Given the description of an element on the screen output the (x, y) to click on. 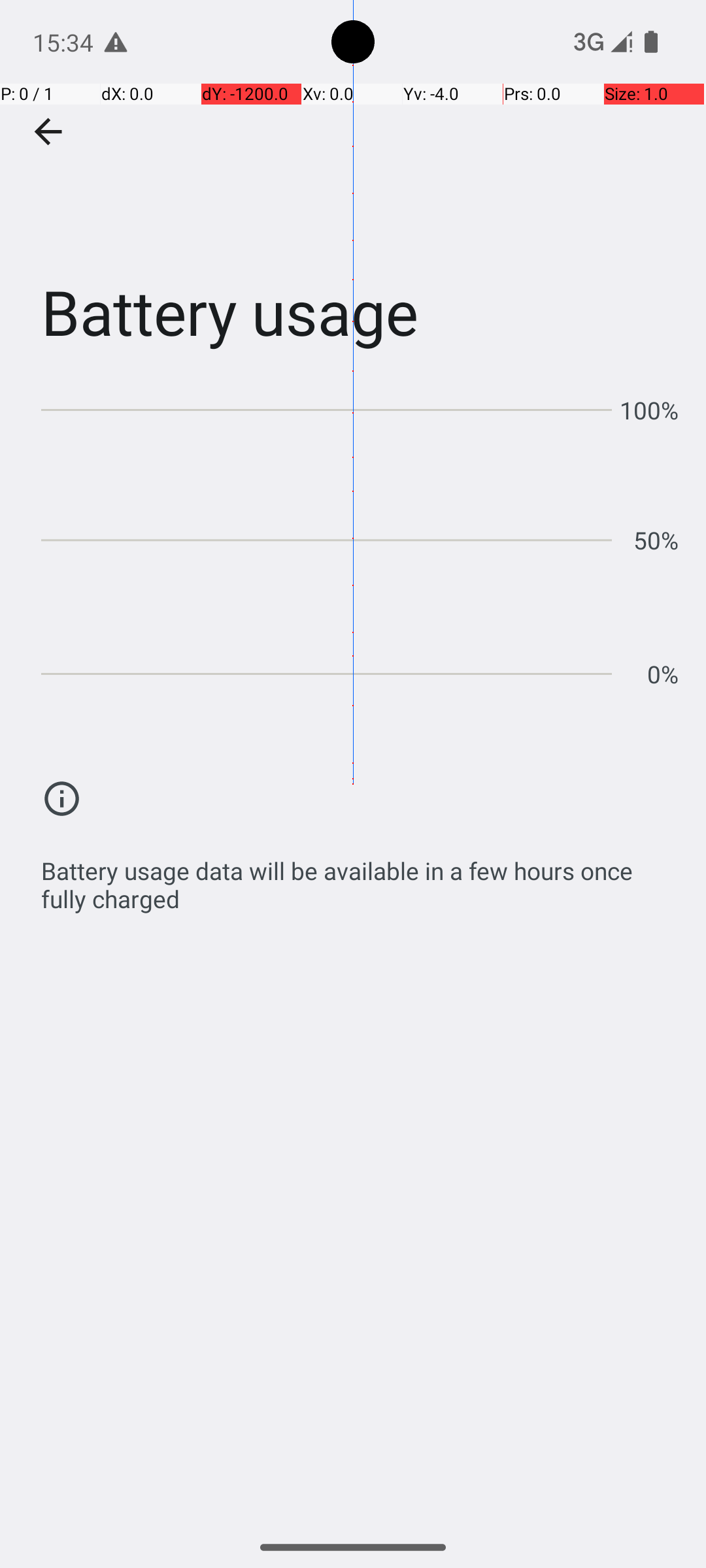
Battery usage Element type: android.widget.FrameLayout (353, 195)
Hourly battery usage chart Element type: android.widget.ImageView (359, 536)
Battery usage data will be available in a few hours once fully charged Element type: android.widget.TextView (359, 877)
